Given the description of an element on the screen output the (x, y) to click on. 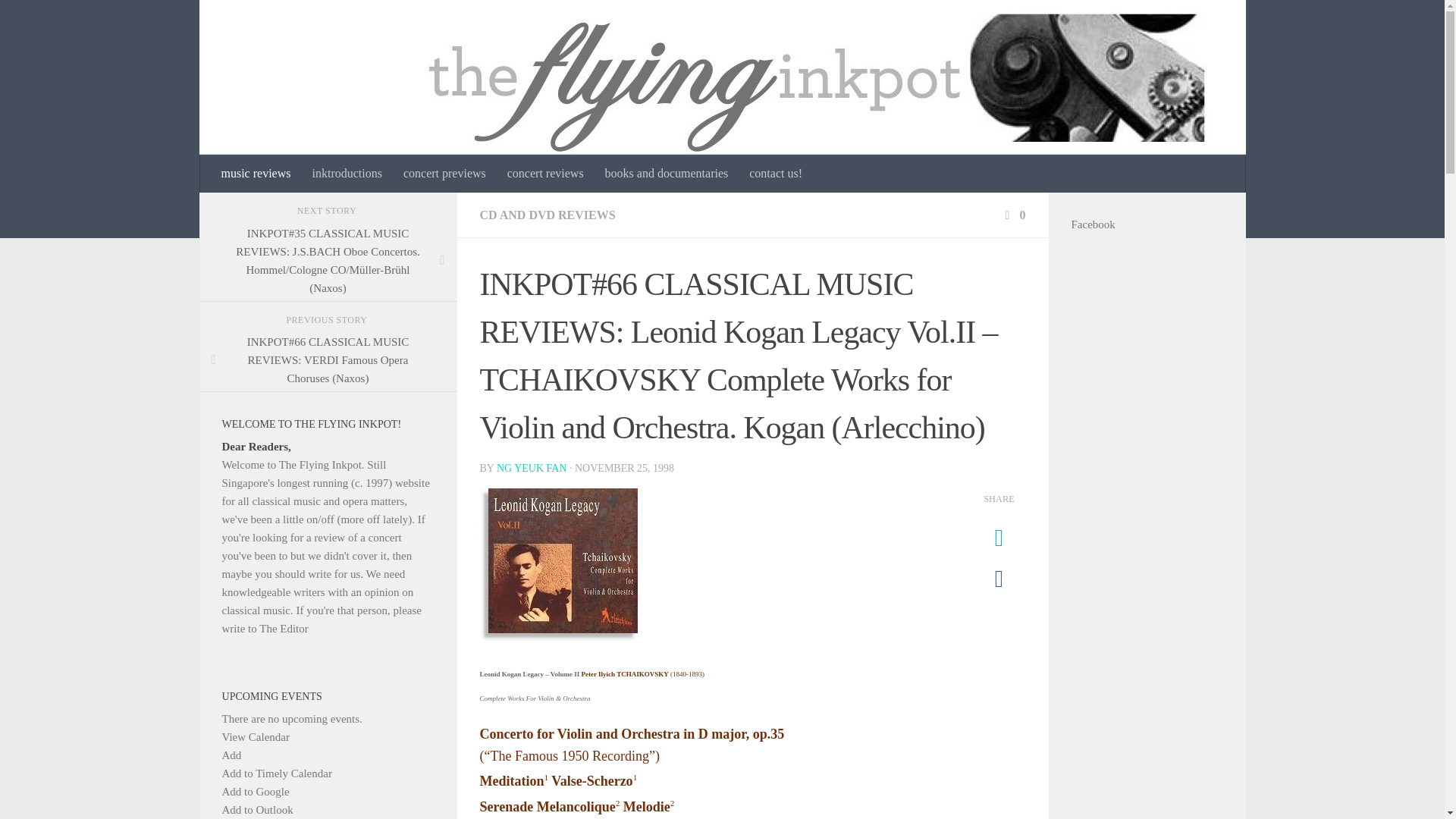
concert previews (444, 173)
contact us! (775, 173)
0 (1013, 214)
Skip to content (59, 20)
books and documentaries (666, 173)
Subscribe to this calendar in MS Outlook (256, 809)
music reviews (256, 173)
Posts by Ng Yeuk Fan (531, 468)
concert reviews (545, 173)
Subscribe to this calendar in your Google Calendar (254, 791)
inktroductions (346, 173)
CD AND DVD REVIEWS (546, 214)
NG YEUK FAN (531, 468)
